Given the description of an element on the screen output the (x, y) to click on. 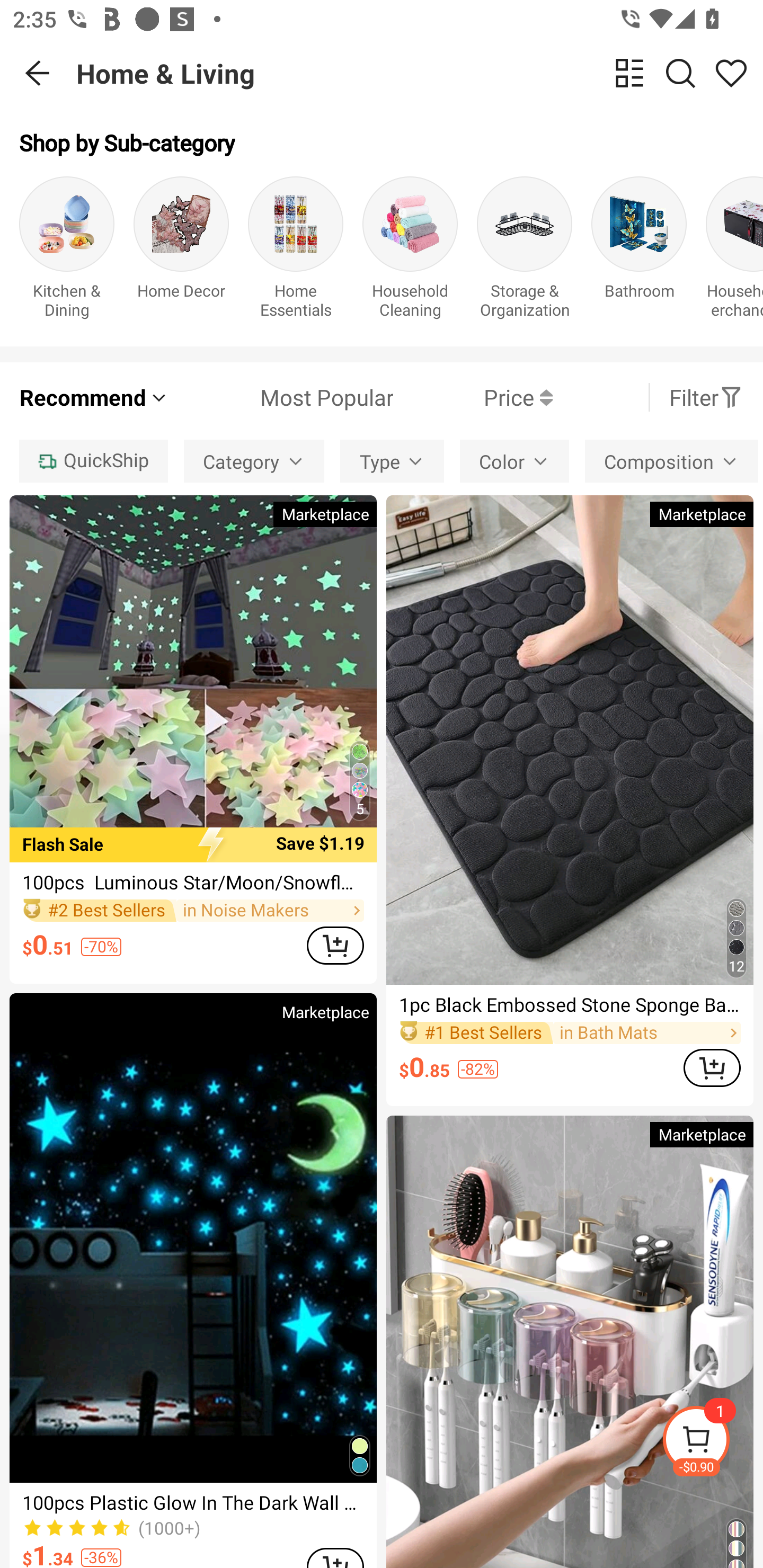
Home & Living change view Search Share (419, 72)
change view (629, 72)
Search (679, 72)
Share (730, 72)
Kitchen & Dining (66, 251)
Home Decor (180, 251)
Home Essentials (295, 251)
Household Cleaning (409, 251)
Storage & Organization (524, 251)
Bathroom (638, 251)
Household Merchandises (734, 251)
Recommend (94, 397)
Most Popular (280, 397)
Price (472, 397)
Filter (705, 397)
QuickShip (93, 460)
Category (253, 460)
Type (392, 460)
Color (514, 460)
Composition (671, 460)
#2 Best Sellers in Noise Makers (192, 910)
ADD TO CART (334, 945)
#1 Best Sellers in Bath Mats (569, 1032)
ADD TO CART (711, 1067)
-$0.90 (712, 1441)
